Given the description of an element on the screen output the (x, y) to click on. 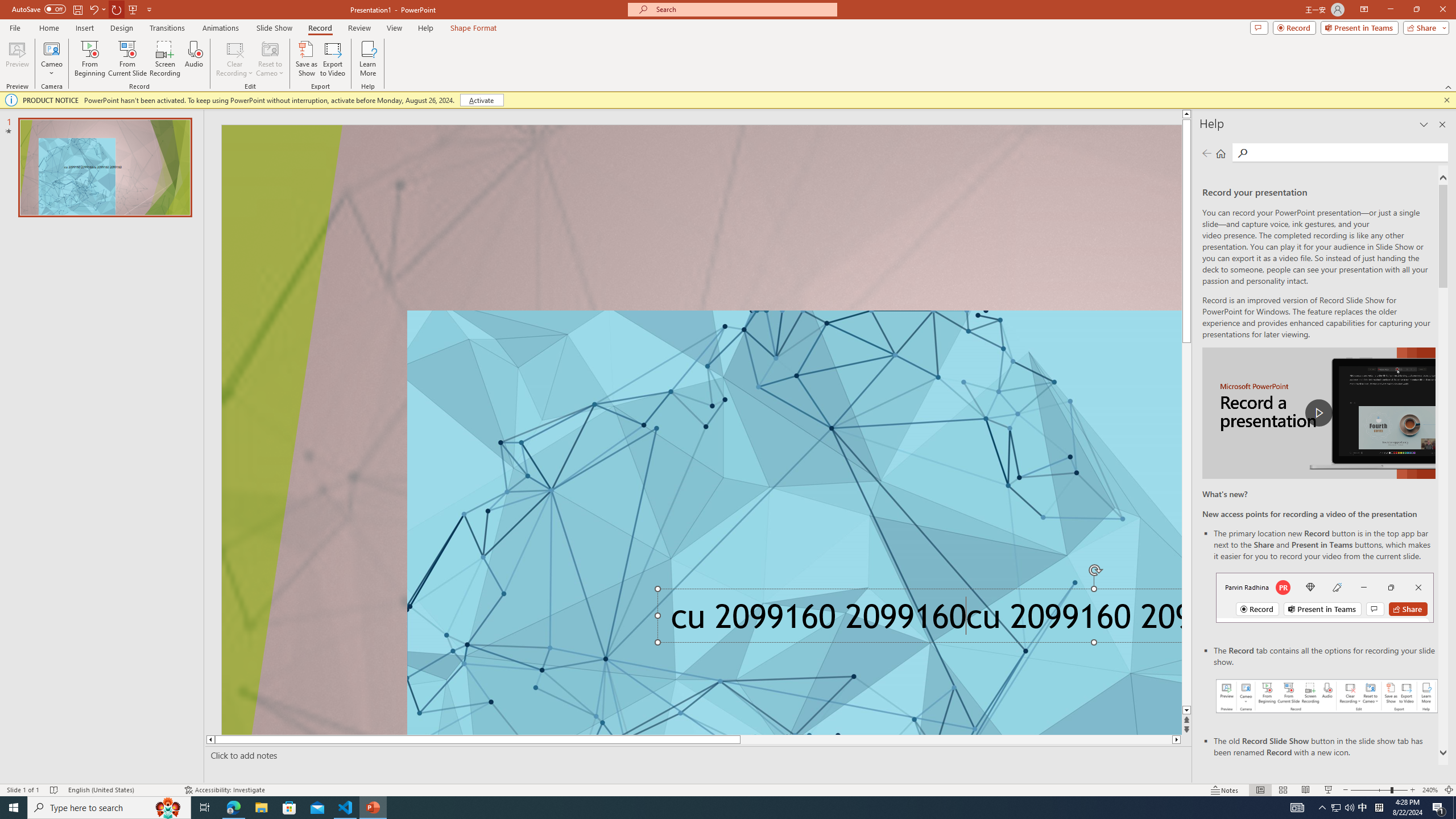
Activate (481, 100)
Close this message (1446, 99)
Record button in top bar (1324, 597)
